Given the description of an element on the screen output the (x, y) to click on. 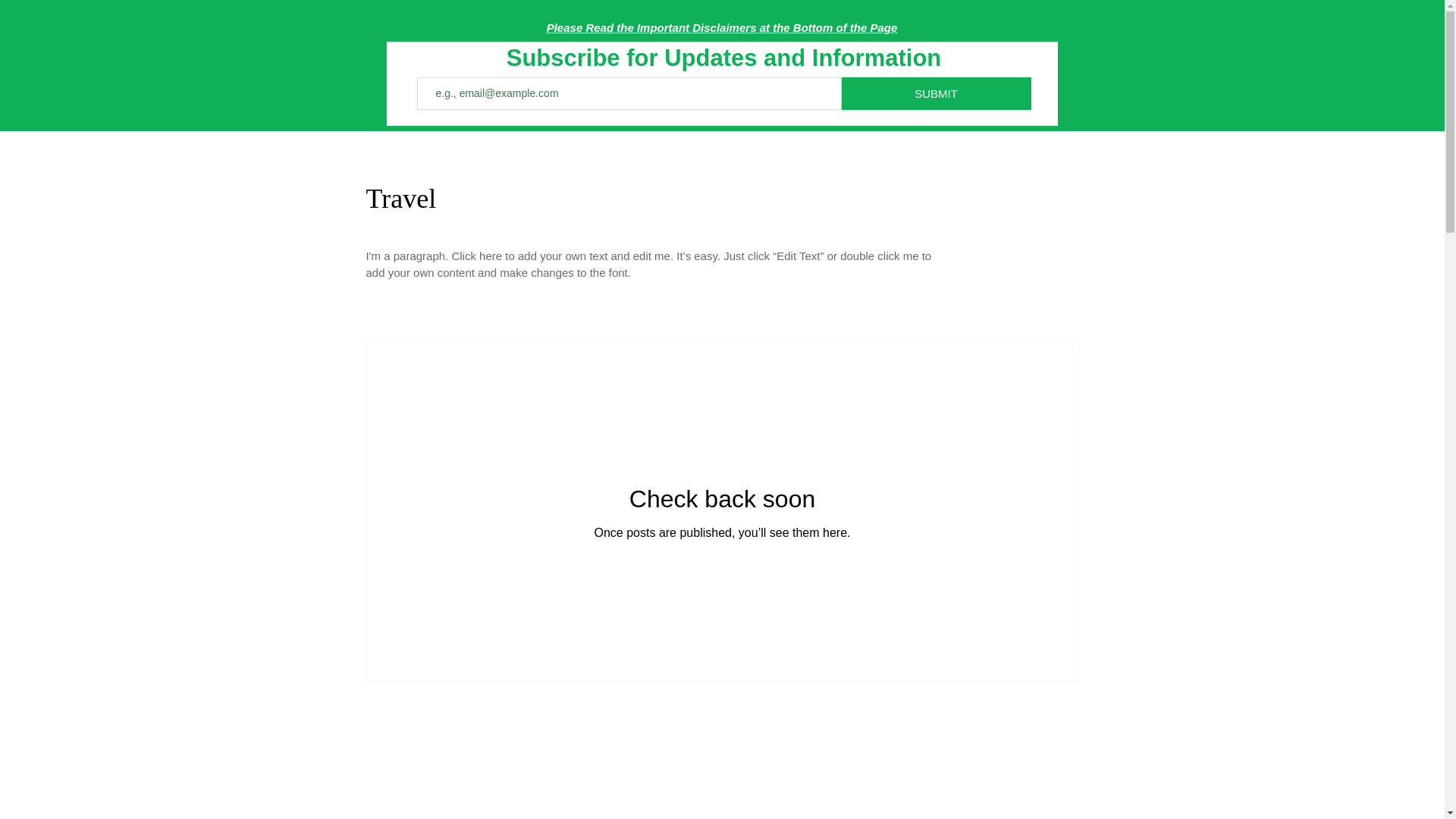
SUBMIT (935, 92)
